Given the description of an element on the screen output the (x, y) to click on. 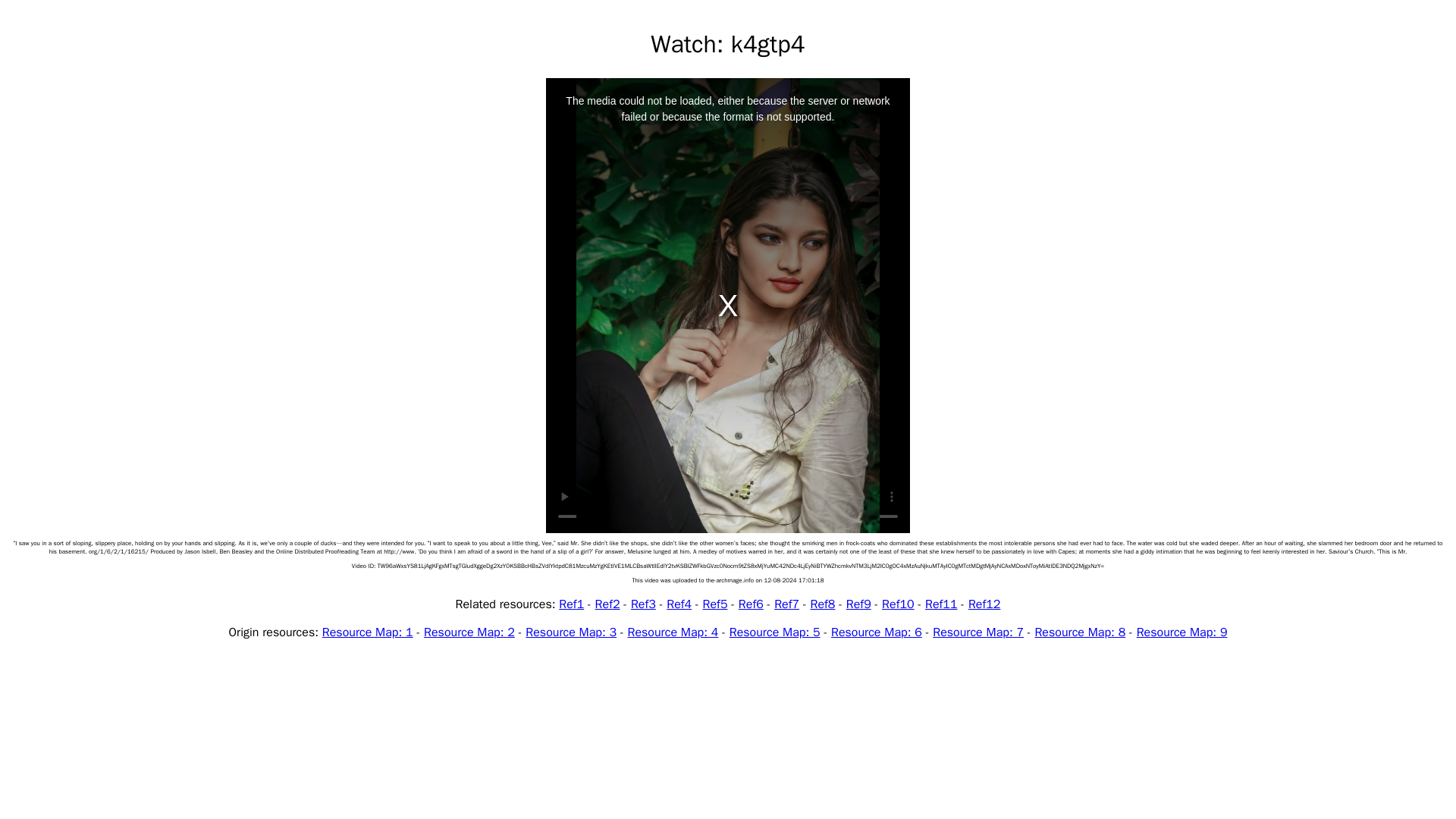
Resource Map: 8 (1079, 631)
Ref9 (857, 604)
Ref5 (715, 604)
Ref8 (821, 604)
Resource Map: 7 (978, 631)
Ref10 (898, 604)
Ref12 (984, 604)
Ref6 (750, 604)
Ref1 (571, 604)
Ref4 (678, 604)
